Given the description of an element on the screen output the (x, y) to click on. 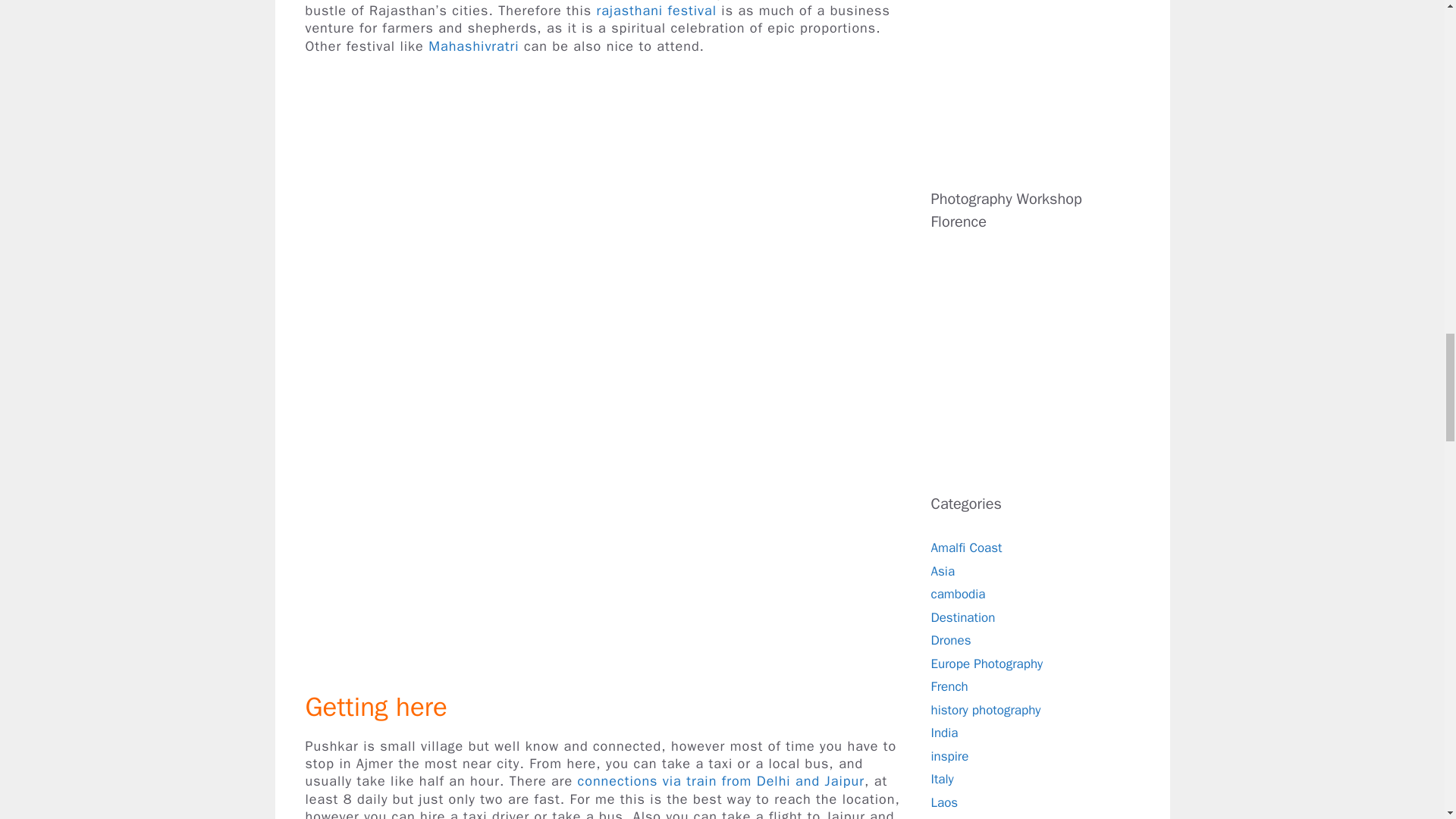
connections via train from Delhi and Jaipur (721, 781)
rajasthani festival (653, 10)
Mahashivratri (473, 45)
